Given the description of an element on the screen output the (x, y) to click on. 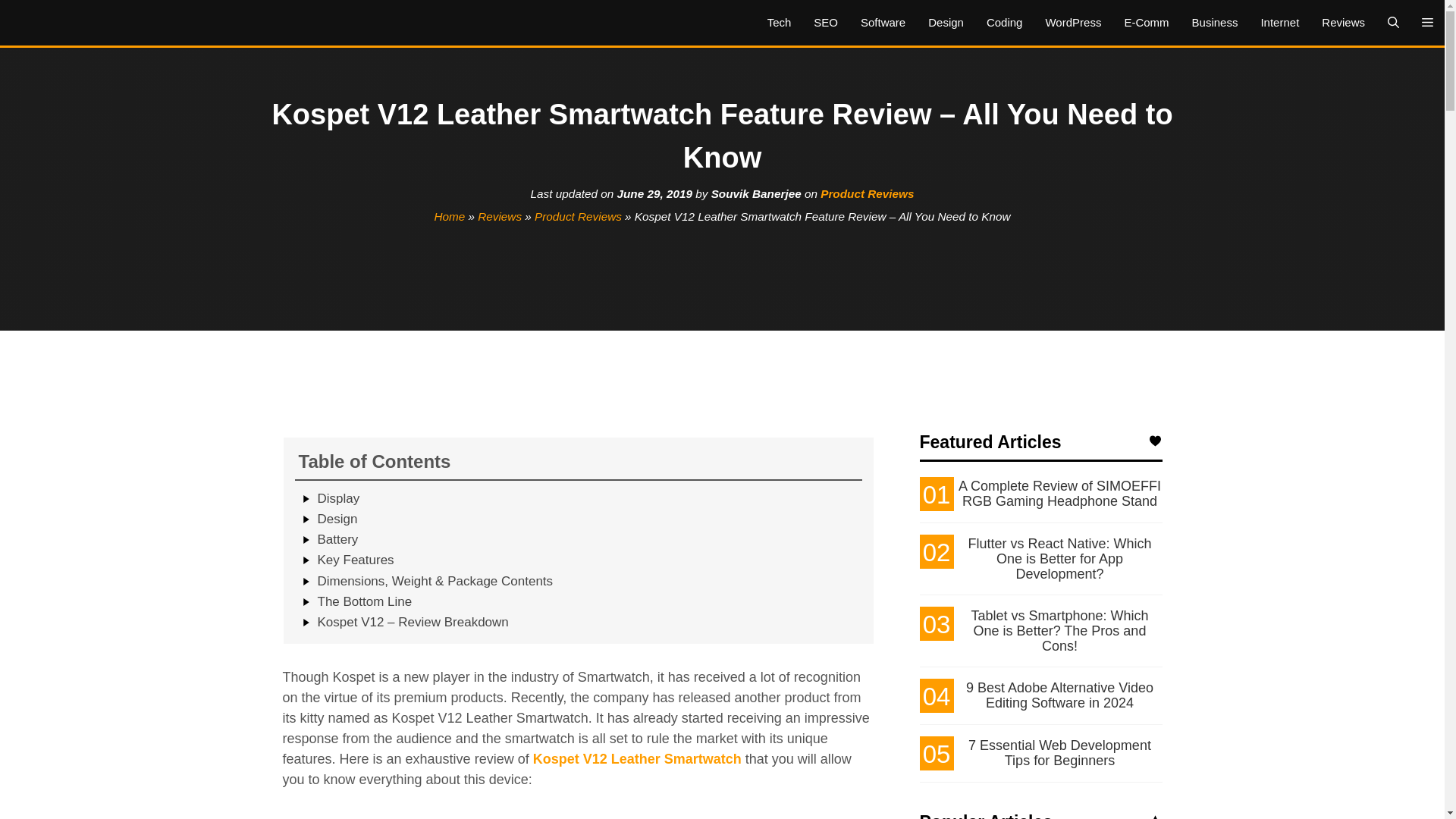
Design (336, 518)
Battery (337, 539)
Design (336, 518)
Key Features (355, 559)
Reviews (1342, 22)
Product Reviews (577, 215)
Key Features (355, 559)
Tech (779, 22)
Design (946, 22)
Business (1214, 22)
The Bottom Line (364, 601)
The Bottom Line (364, 601)
Display (338, 498)
WordPress (1072, 22)
Battery (337, 539)
